Given the description of an element on the screen output the (x, y) to click on. 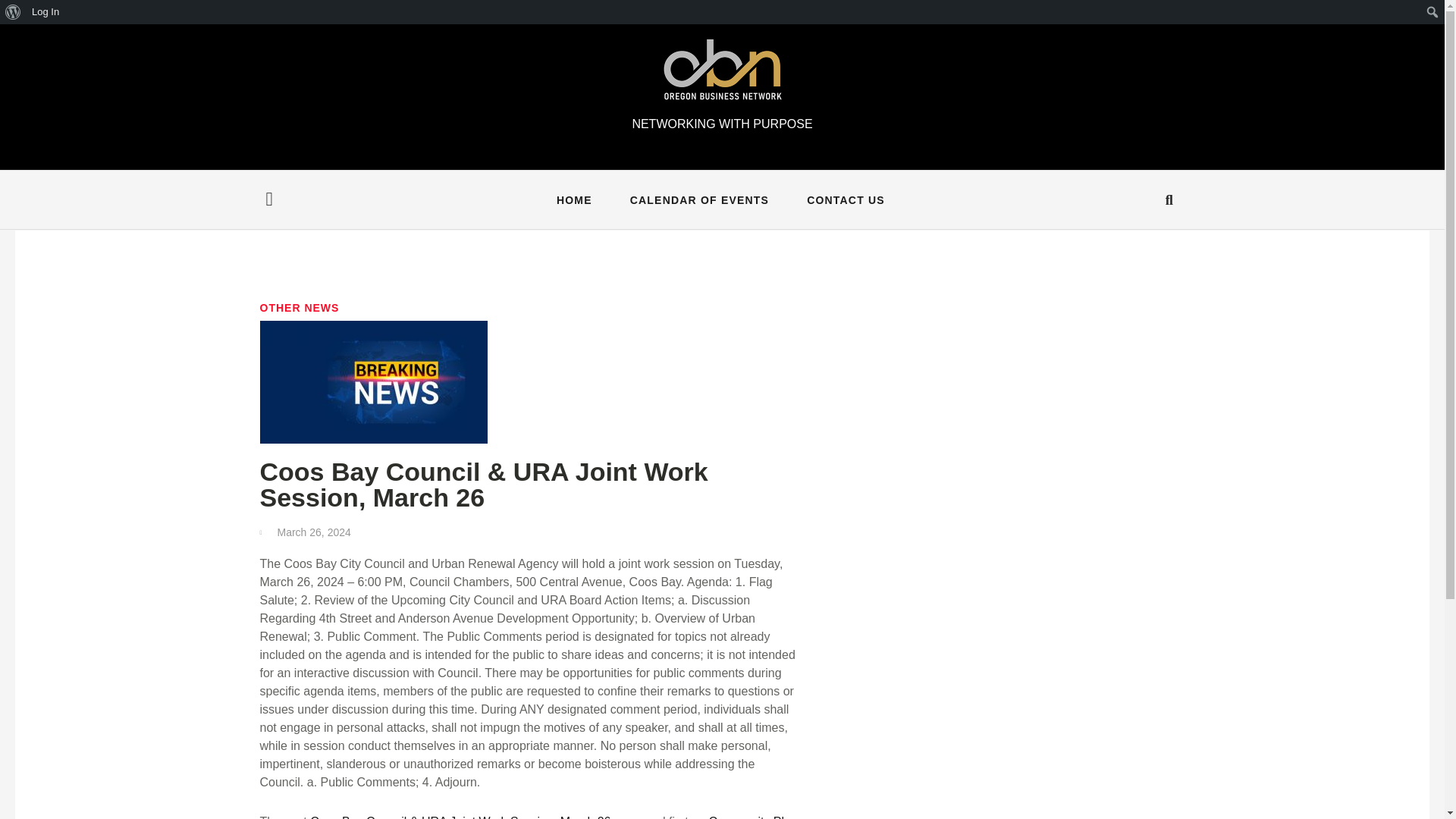
Community Plus (751, 816)
CALENDAR OF EVENTS (699, 199)
CONTACT US (845, 199)
OTHER NEWS (299, 307)
Search (15, 12)
HOME (574, 199)
Log In (45, 12)
March 26, 2024 (304, 531)
